Given the description of an element on the screen output the (x, y) to click on. 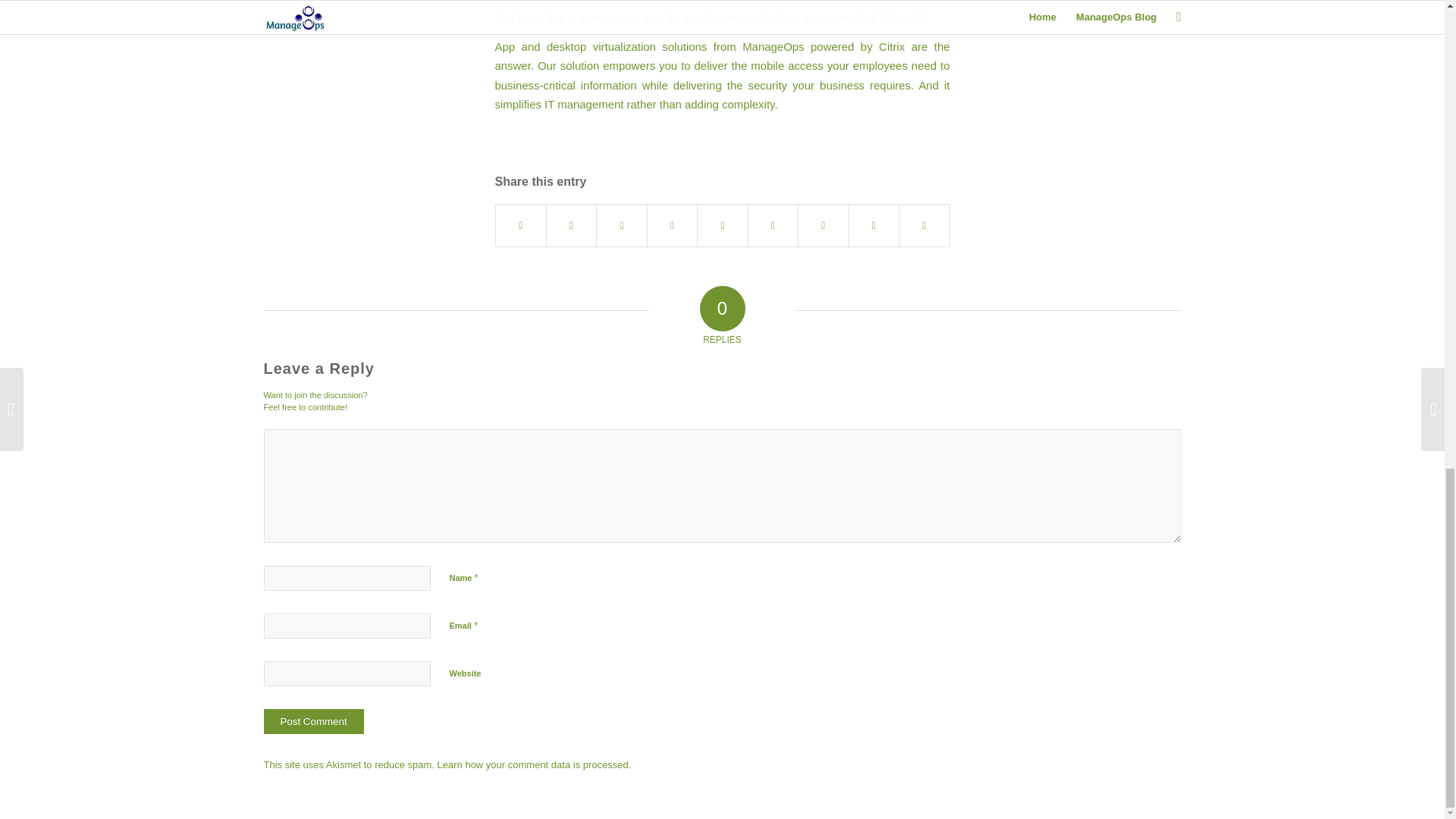
Learn how your comment data is processed (533, 764)
Post Comment (313, 721)
Post Comment (313, 721)
